Given the description of an element on the screen output the (x, y) to click on. 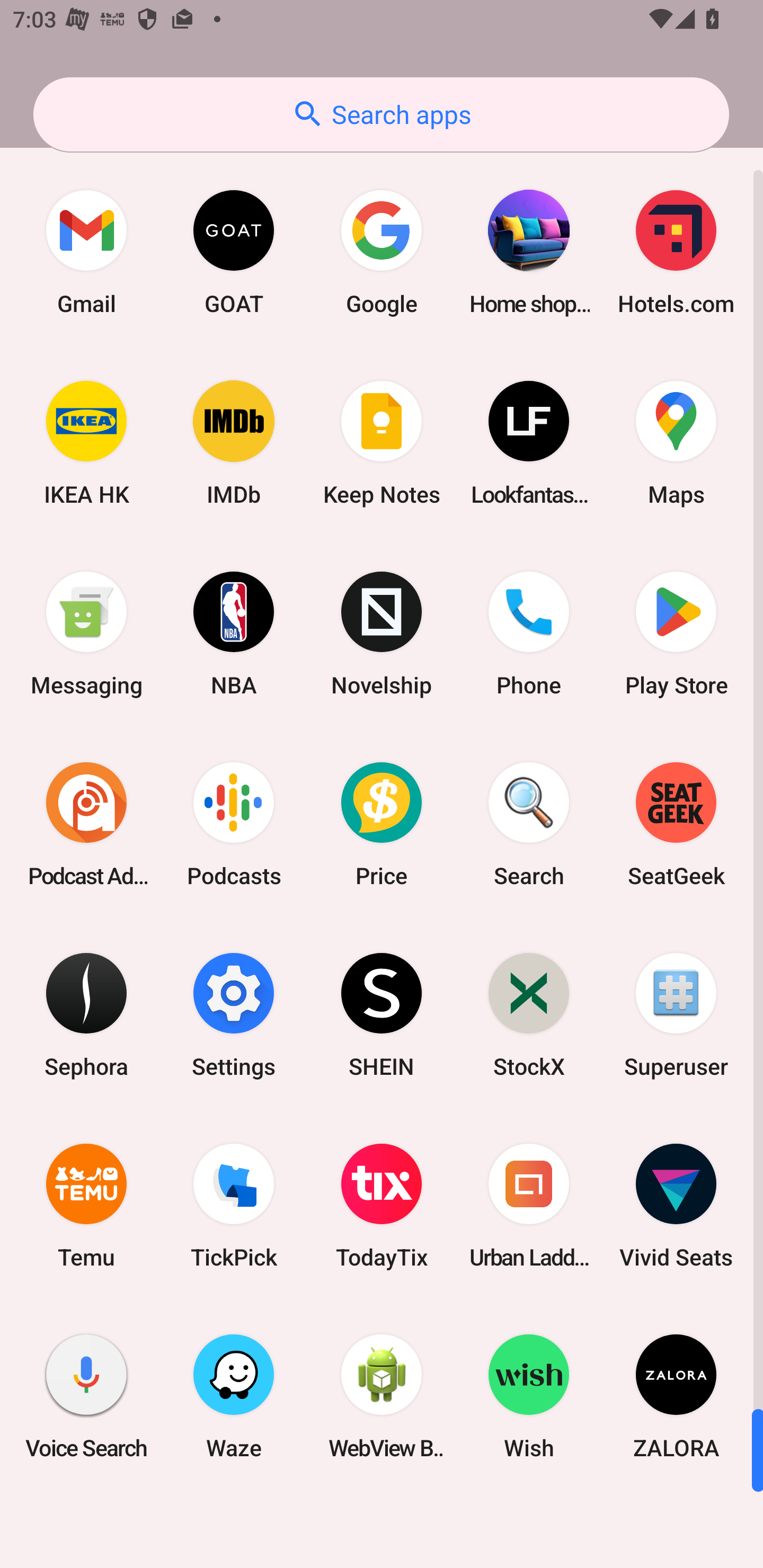
  Search apps (381, 114)
Gmail (86, 252)
GOAT (233, 252)
Google (381, 252)
Home shopping (528, 252)
Hotels.com (676, 252)
IKEA HK (86, 442)
IMDb (233, 442)
Keep Notes (381, 442)
Lookfantastic (528, 442)
Maps (676, 442)
Messaging (86, 633)
NBA (233, 633)
Novelship (381, 633)
Phone (528, 633)
Play Store (676, 633)
Podcast Addict (86, 823)
Podcasts (233, 823)
Price (381, 823)
Search (528, 823)
SeatGeek (676, 823)
Sephora (86, 1014)
Settings (233, 1014)
SHEIN (381, 1014)
StockX (528, 1014)
Superuser (676, 1014)
Temu (86, 1205)
TickPick (233, 1205)
TodayTix (381, 1205)
Urban Ladder (528, 1205)
Vivid Seats (676, 1205)
Voice Search (86, 1396)
Waze (233, 1396)
WebView Browser Tester (381, 1396)
Wish (528, 1396)
ZALORA (676, 1396)
